Given the description of an element on the screen output the (x, y) to click on. 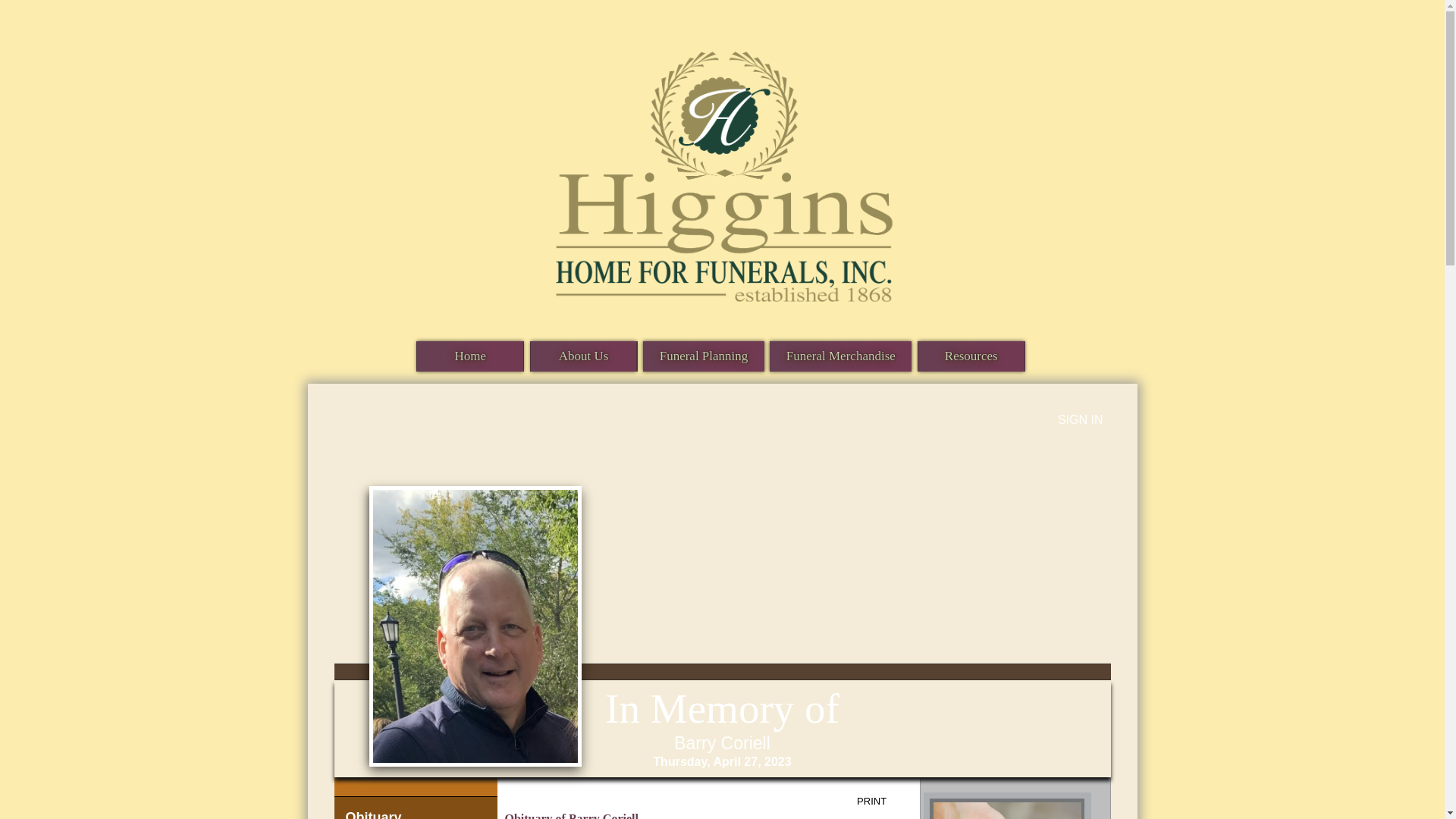
Resources (971, 356)
PRINT (882, 801)
Obituary (414, 807)
Funeral Planning (703, 356)
Funeral Merchandise (840, 356)
SIGN IN (1080, 419)
Home (469, 356)
Print (882, 801)
About Us (584, 356)
